Given the description of an element on the screen output the (x, y) to click on. 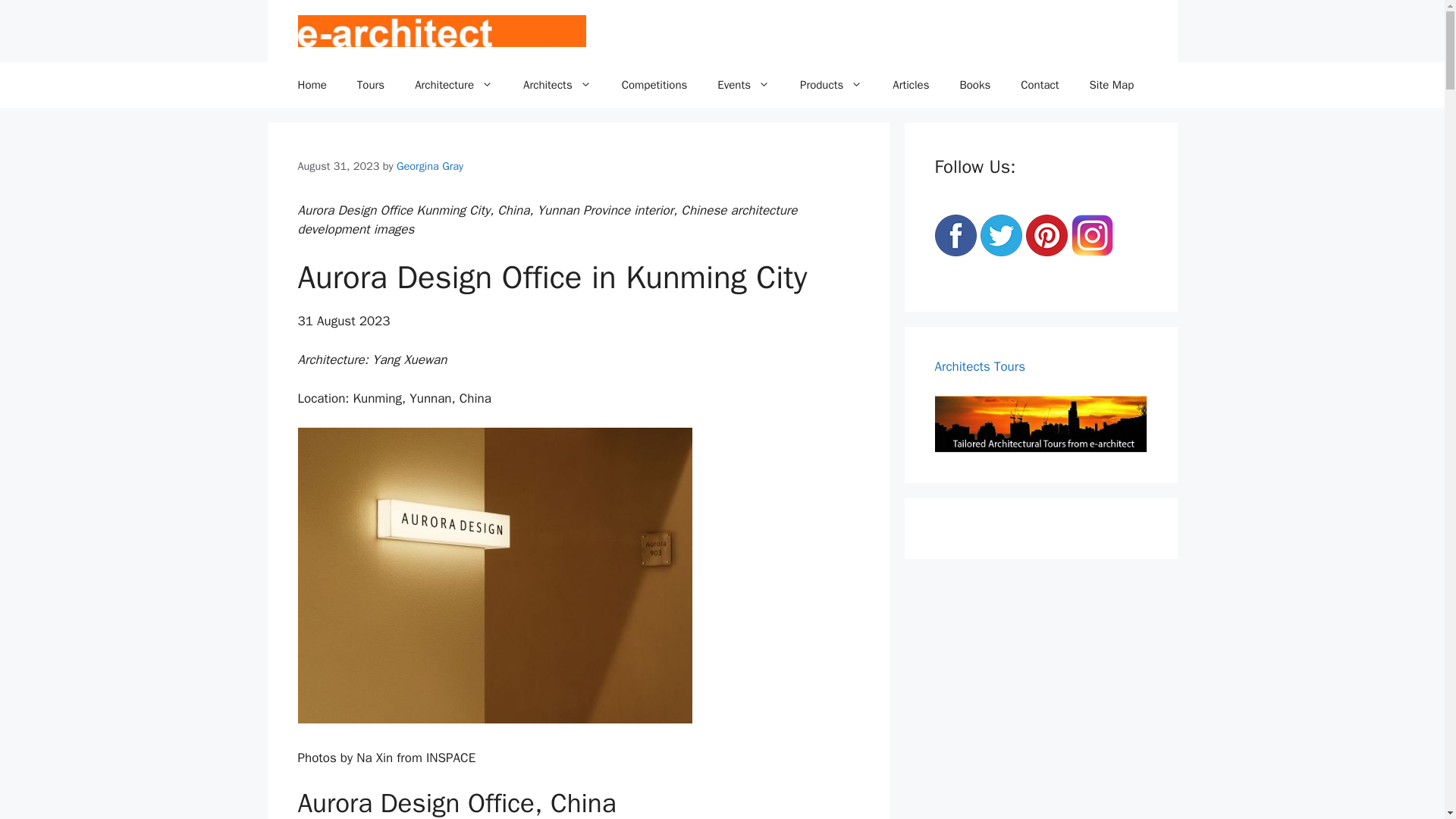
Tours (370, 84)
facebook (954, 235)
Georgina Gray (429, 165)
Contact (1040, 84)
Books (974, 84)
Events (742, 84)
Architects (557, 84)
Articles (910, 84)
Competitions (655, 84)
Home (311, 84)
